Given the description of an element on the screen output the (x, y) to click on. 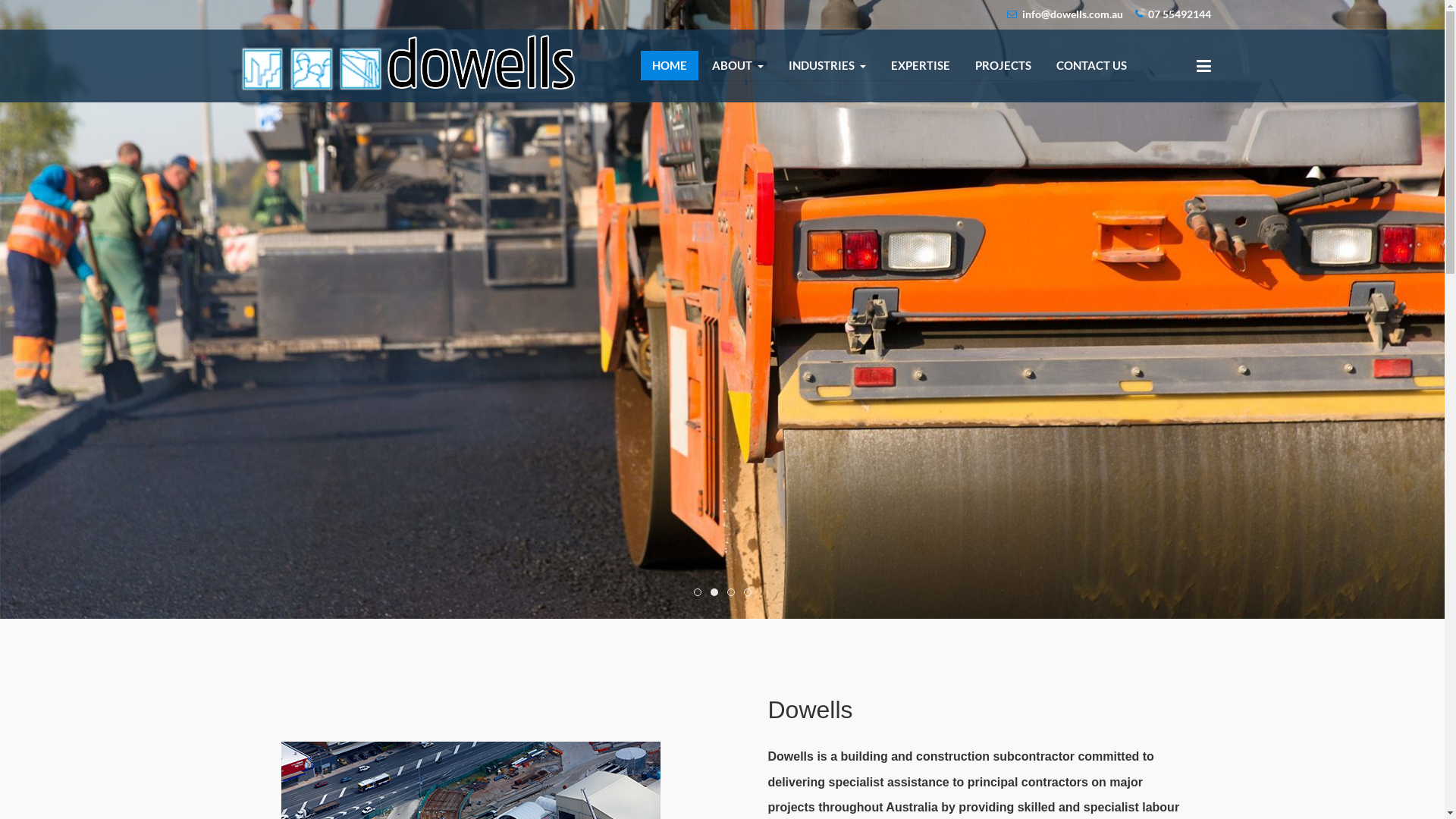
Concrete Element type: text (730, 592)
PROJECTS Element type: text (1002, 65)
Cranes 1 Element type: text (696, 592)
Dowells Element type: hover (406, 63)
Dowell 3 Element type: text (746, 592)
Roller Element type: text (713, 592)
CONTACT US Element type: text (1091, 65)
EXPERTISE Element type: text (920, 65)
HOME Element type: text (668, 65)
